Given the description of an element on the screen output the (x, y) to click on. 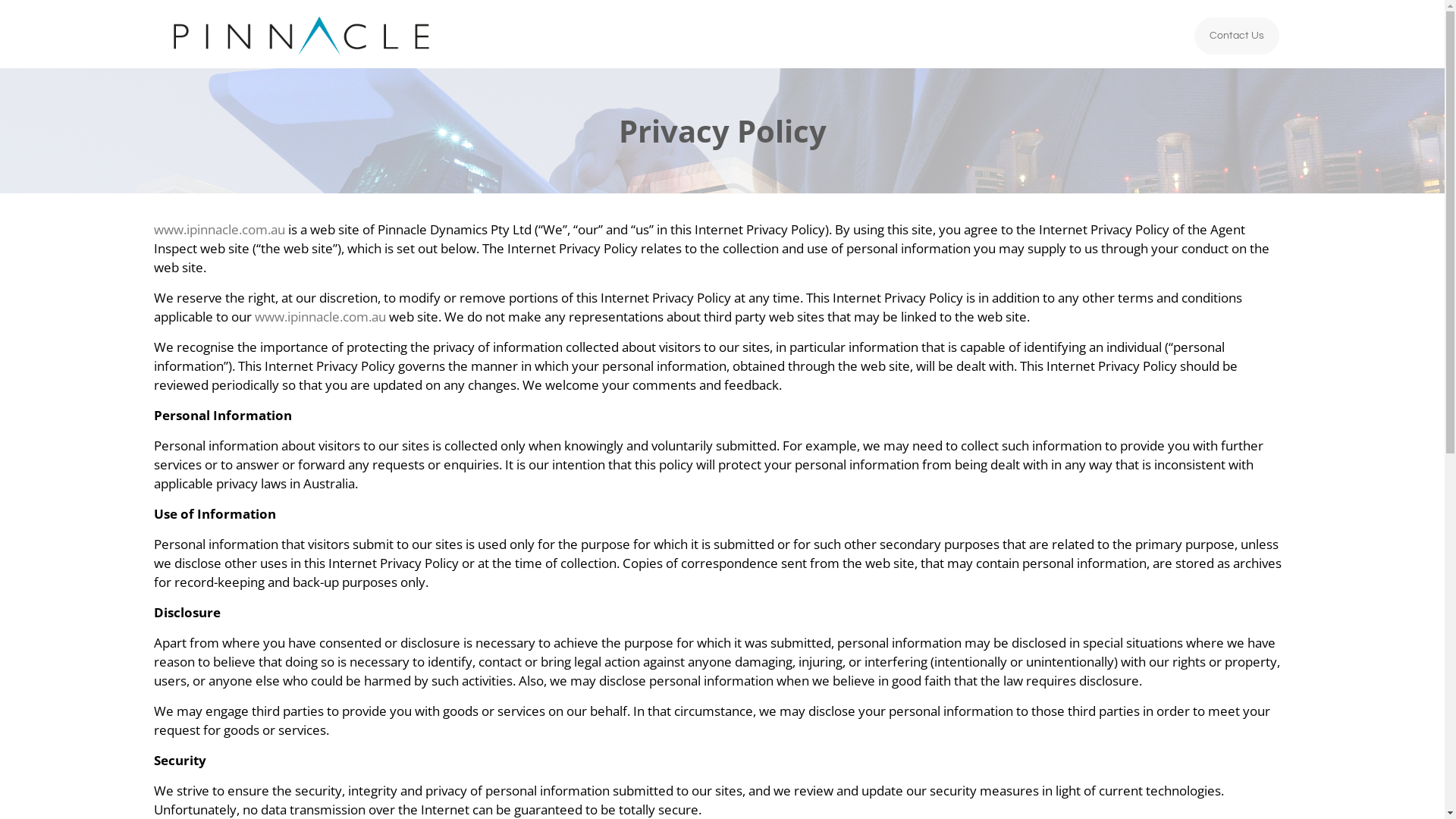
Pinnacle Element type: hover (301, 34)
Contact Us Element type: text (1236, 35)
www.ipinnacle.com.au Element type: text (219, 229)
www.ipinnacle.com.au Element type: text (319, 316)
